Given the description of an element on the screen output the (x, y) to click on. 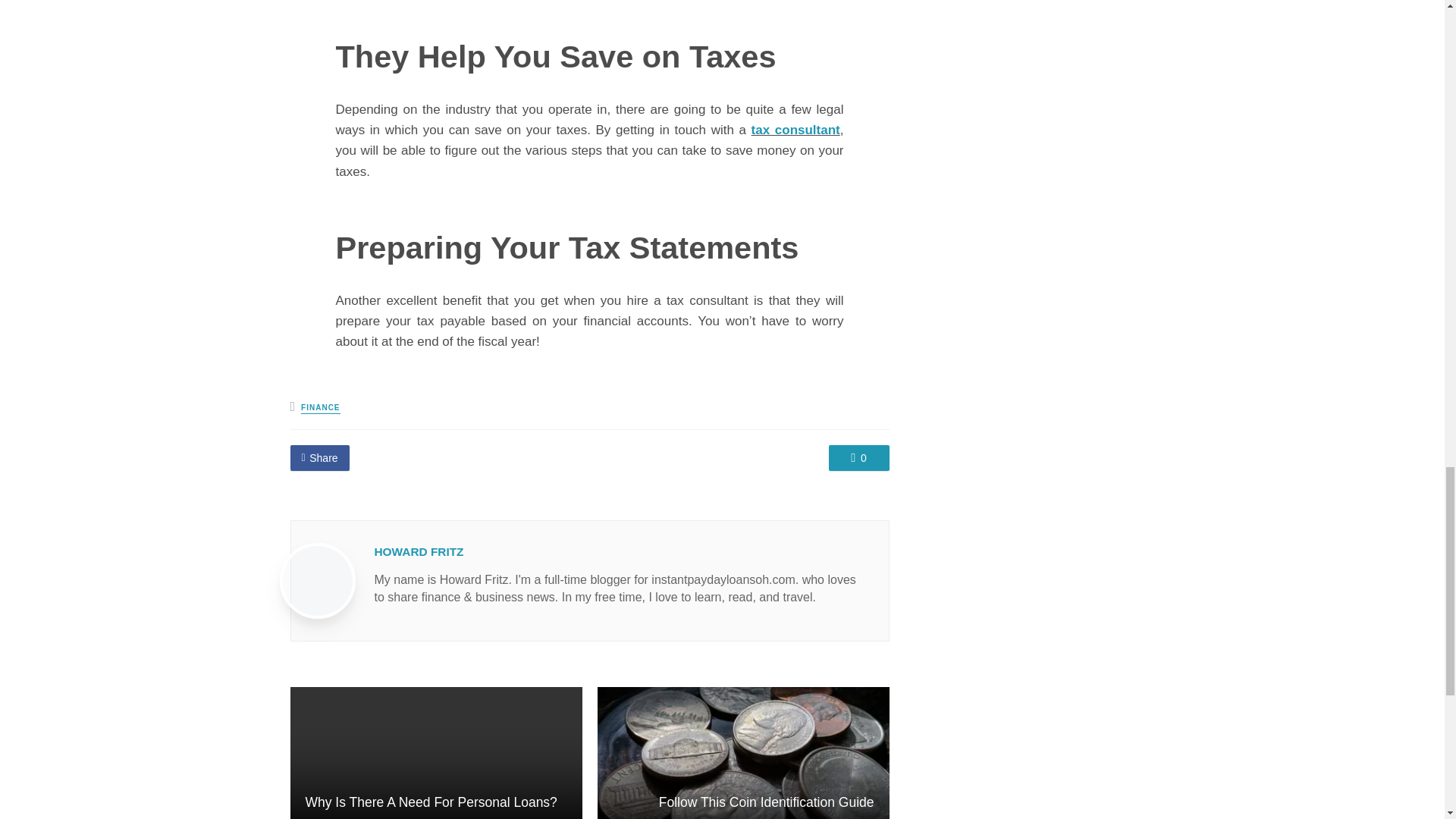
0 (858, 457)
Share on Facebook (319, 457)
HOWARD FRITZ (419, 551)
tax consultant (795, 129)
Share (319, 457)
Posts by Howard Fritz (419, 551)
0 Comments (858, 457)
FINANCE (320, 408)
